Given the description of an element on the screen output the (x, y) to click on. 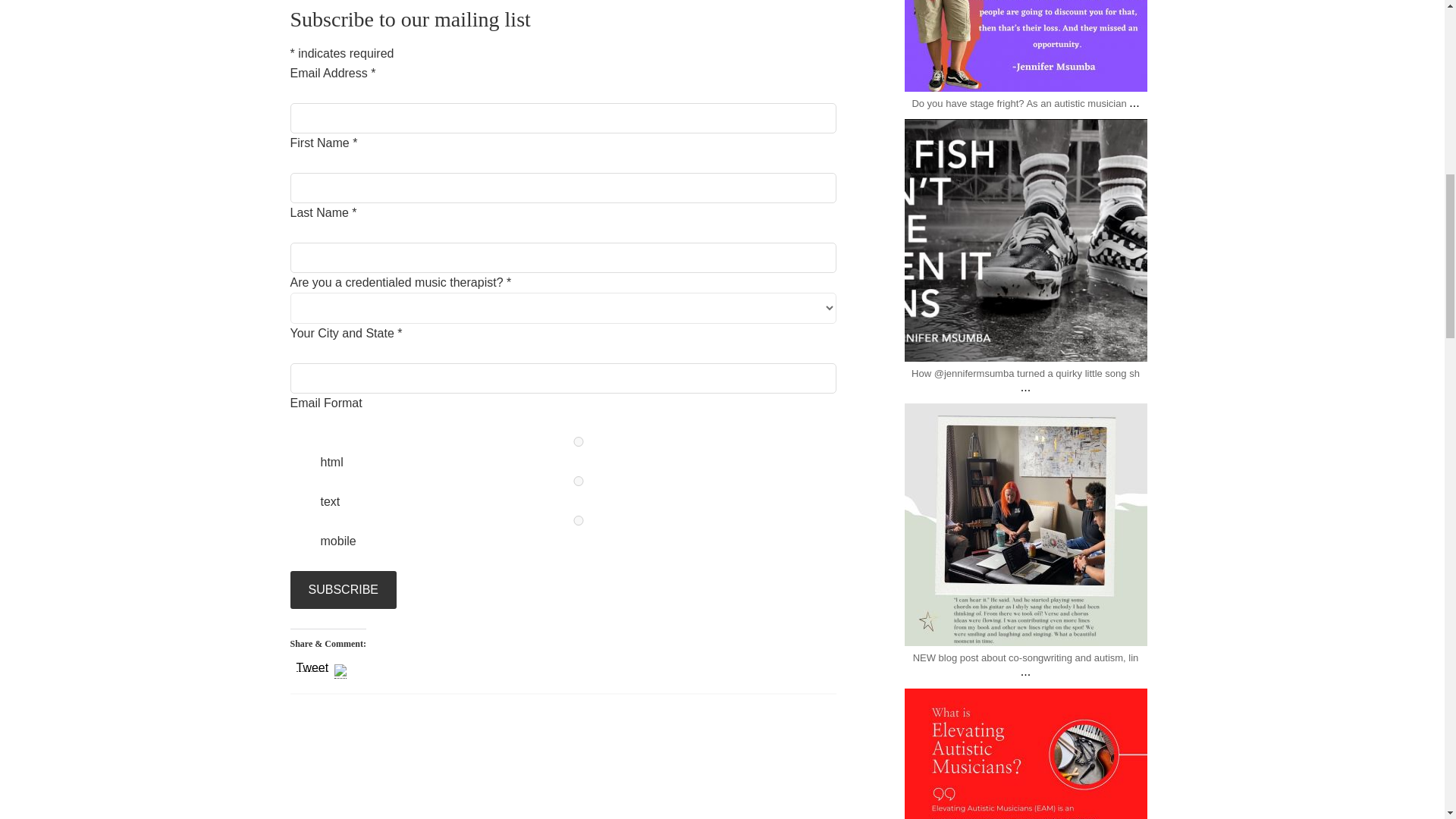
Tweet (312, 664)
Subscribe (342, 589)
mobile (577, 520)
text (577, 480)
html (577, 441)
Subscribe (342, 589)
